Given the description of an element on the screen output the (x, y) to click on. 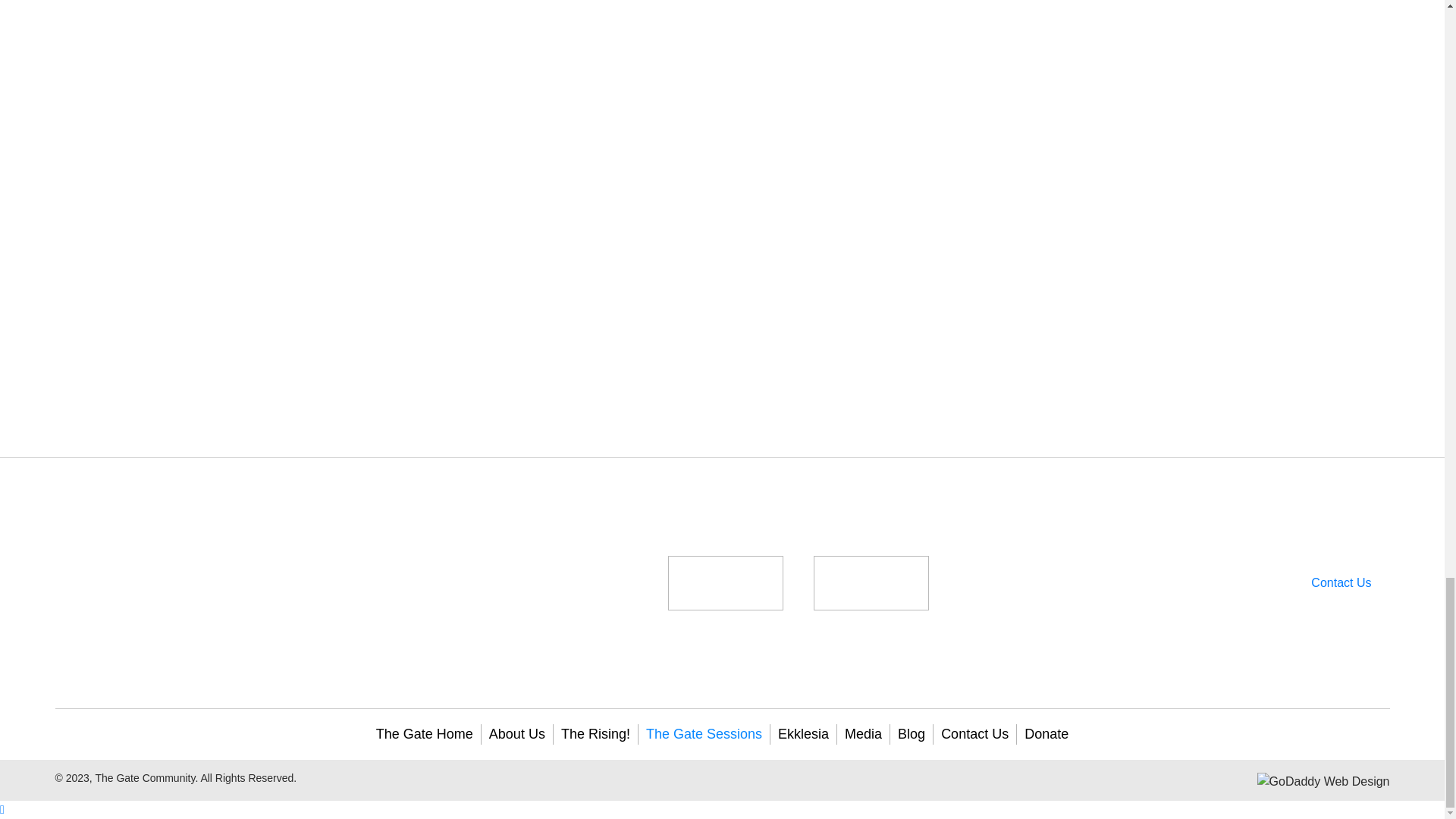
Blog (911, 733)
The Rising! (595, 733)
The Gate Sessions (704, 733)
Amazon (725, 582)
New Project (870, 582)
Media (863, 733)
About Us (517, 733)
Contact Us (1340, 582)
Ekklesia (802, 733)
The Gate Home (424, 733)
